Given the description of an element on the screen output the (x, y) to click on. 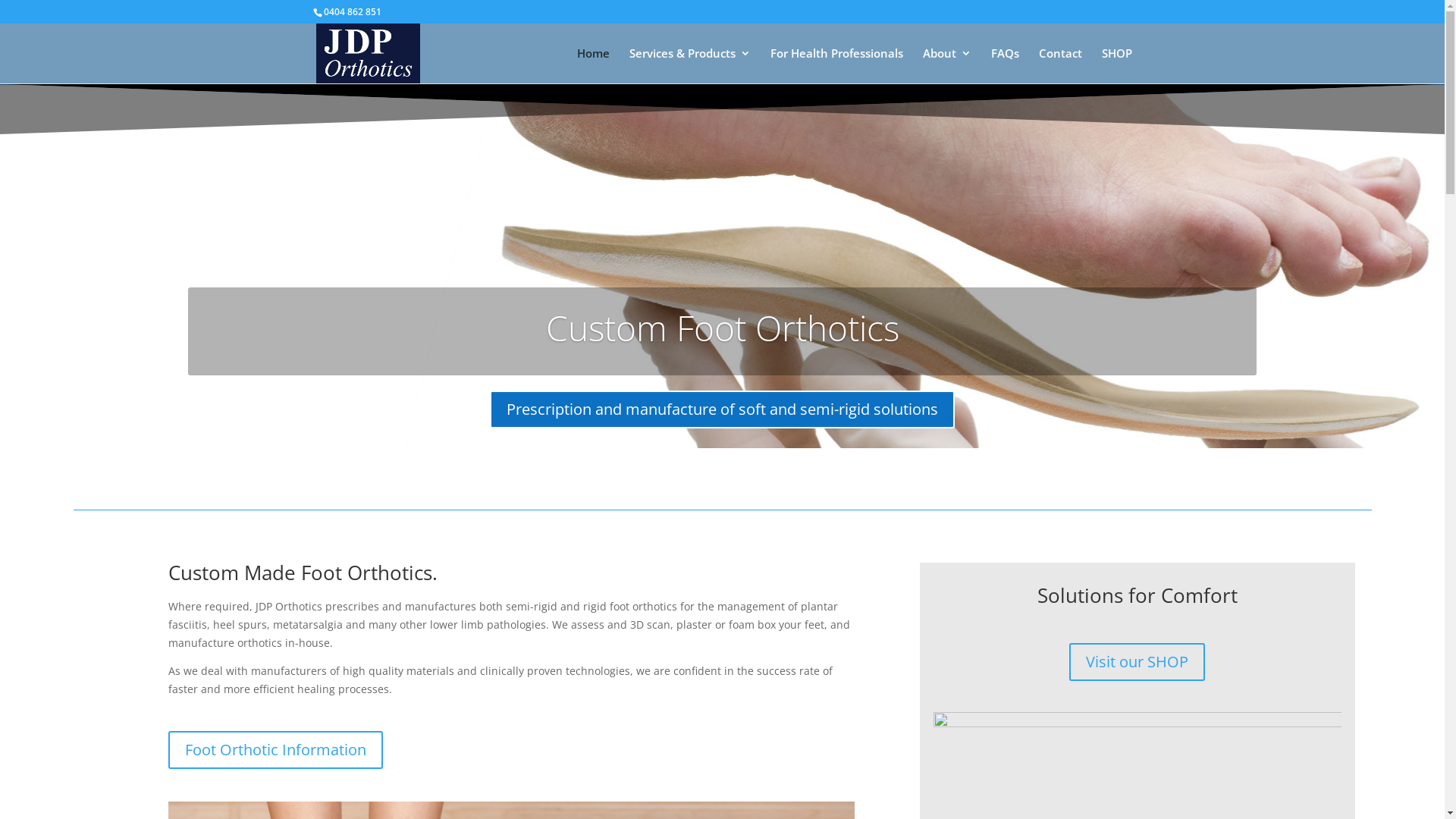
FAQs Element type: text (1004, 65)
Home Element type: text (592, 65)
Visit our SHOP Element type: text (1136, 661)
Foot Orthotic Information Element type: text (275, 749)
SHOP Element type: text (1116, 65)
For Health Professionals Element type: text (836, 65)
Contact Element type: text (1060, 65)
Services & Products Element type: text (689, 65)
About Element type: text (946, 65)
